Given the description of an element on the screen output the (x, y) to click on. 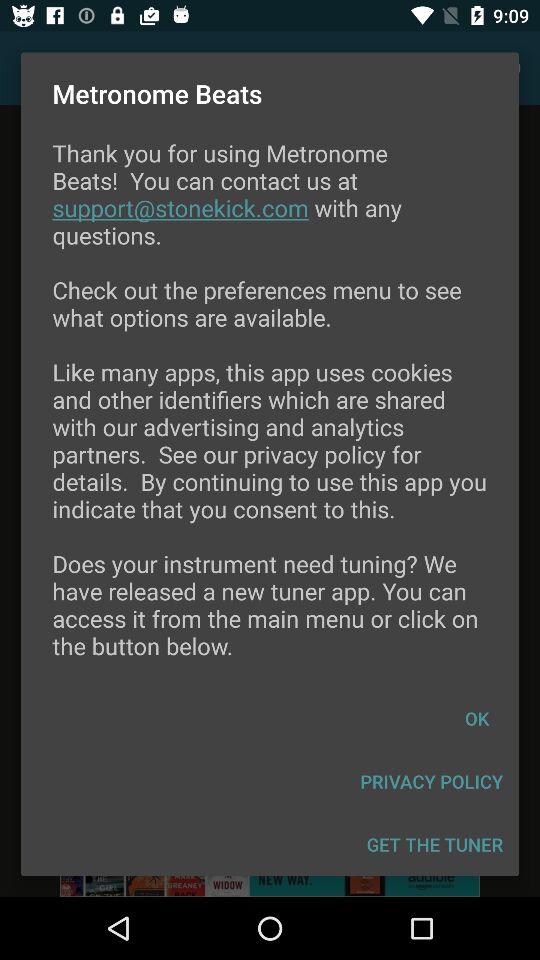
select the icon above the get the tuner icon (431, 781)
